Given the description of an element on the screen output the (x, y) to click on. 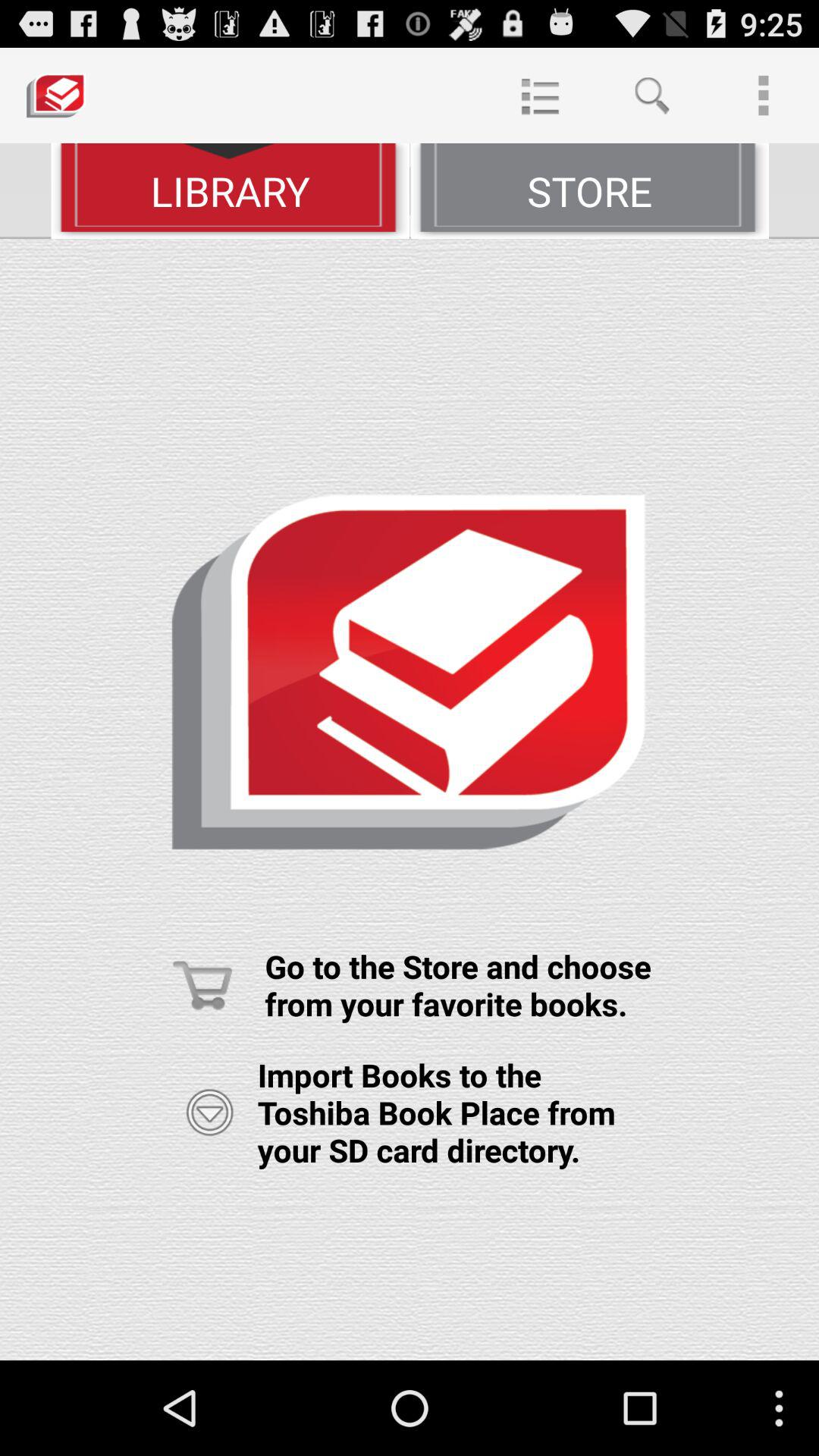
open the import books (209, 1112)
